Given the description of an element on the screen output the (x, y) to click on. 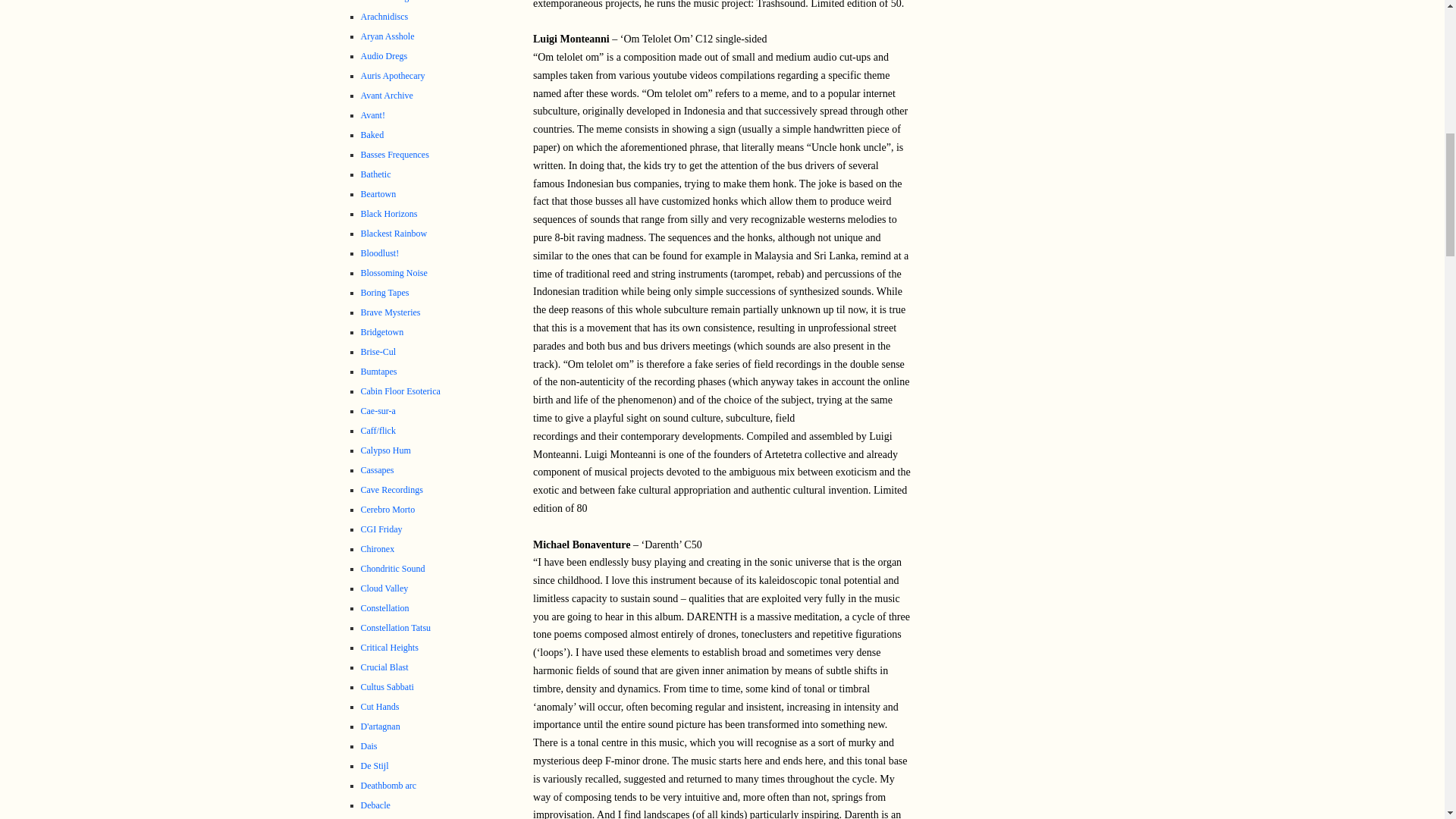
Animal Image Search (401, 1)
Aryan Asshole (387, 36)
Auris Apothecary (393, 75)
Audio Dregs (384, 55)
Arachnidiscs (385, 16)
